Given the description of an element on the screen output the (x, y) to click on. 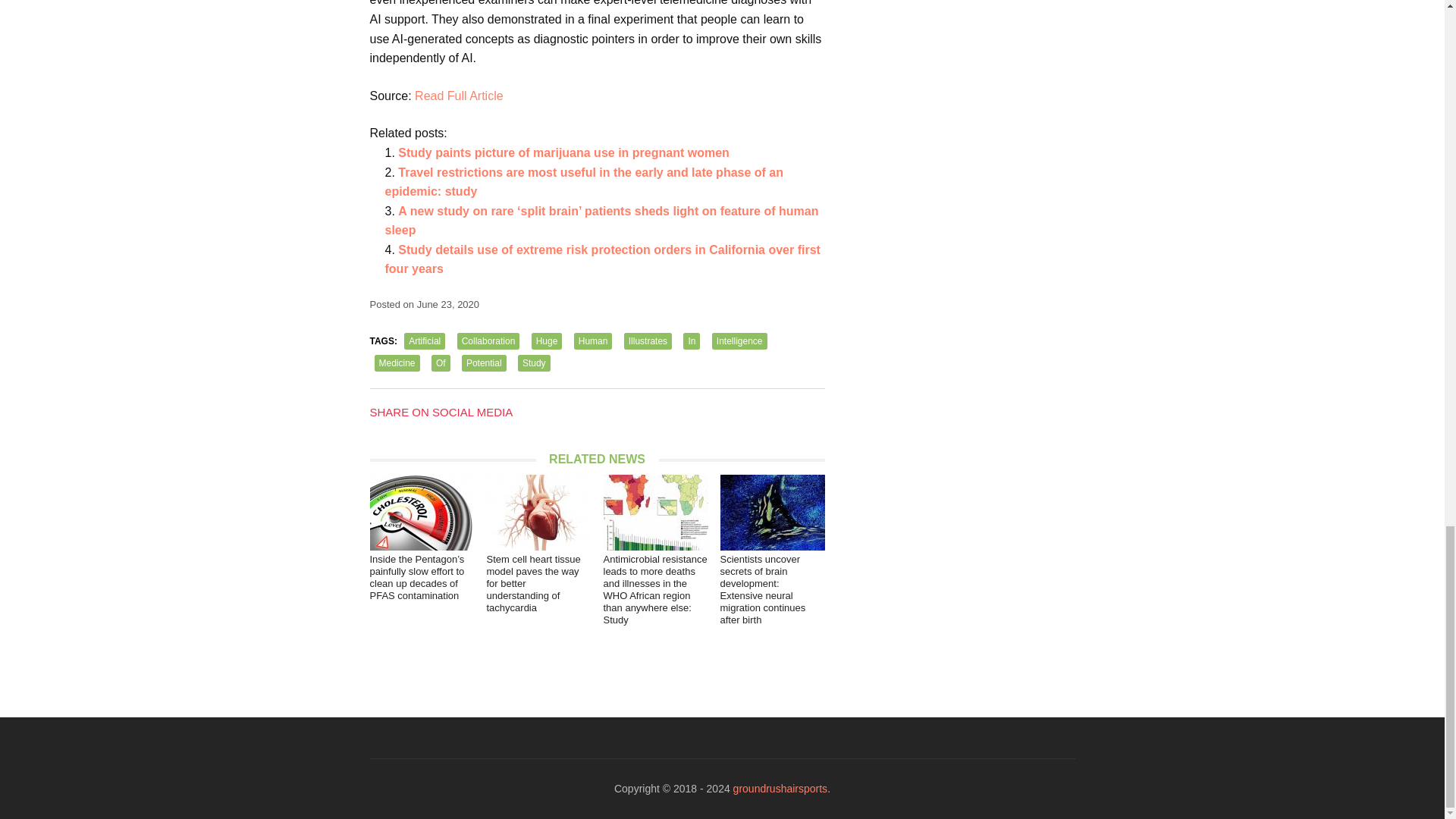
Huge (546, 340)
Medicine (397, 362)
Human (592, 340)
Illustrates (647, 340)
Artificial (424, 340)
Study paints picture of marijuana use in pregnant women (563, 152)
Potential (483, 362)
groundrushairsports (780, 788)
Collaboration (488, 340)
